Given the description of an element on the screen output the (x, y) to click on. 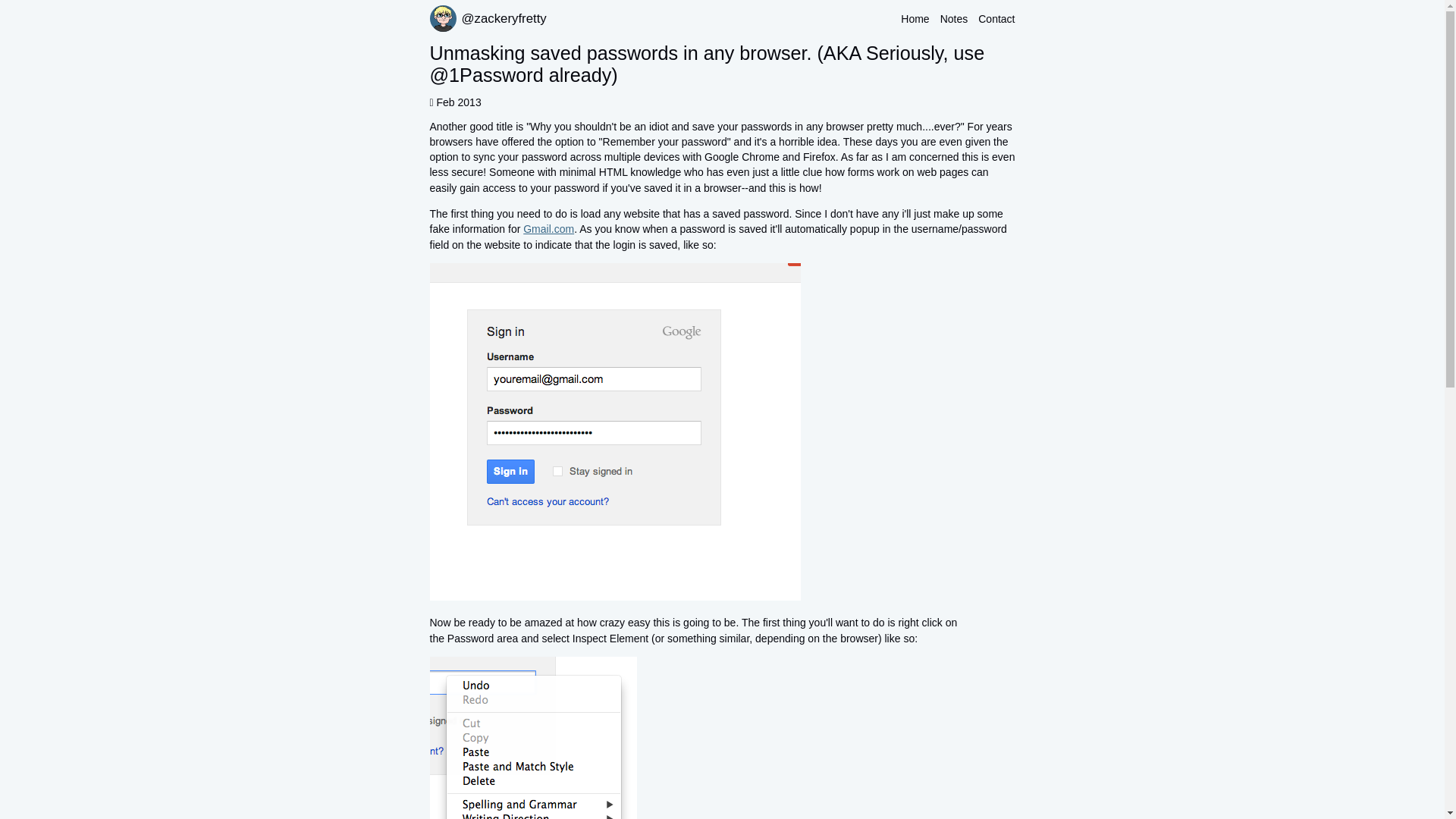
Gmail.com (547, 228)
